Given the description of an element on the screen output the (x, y) to click on. 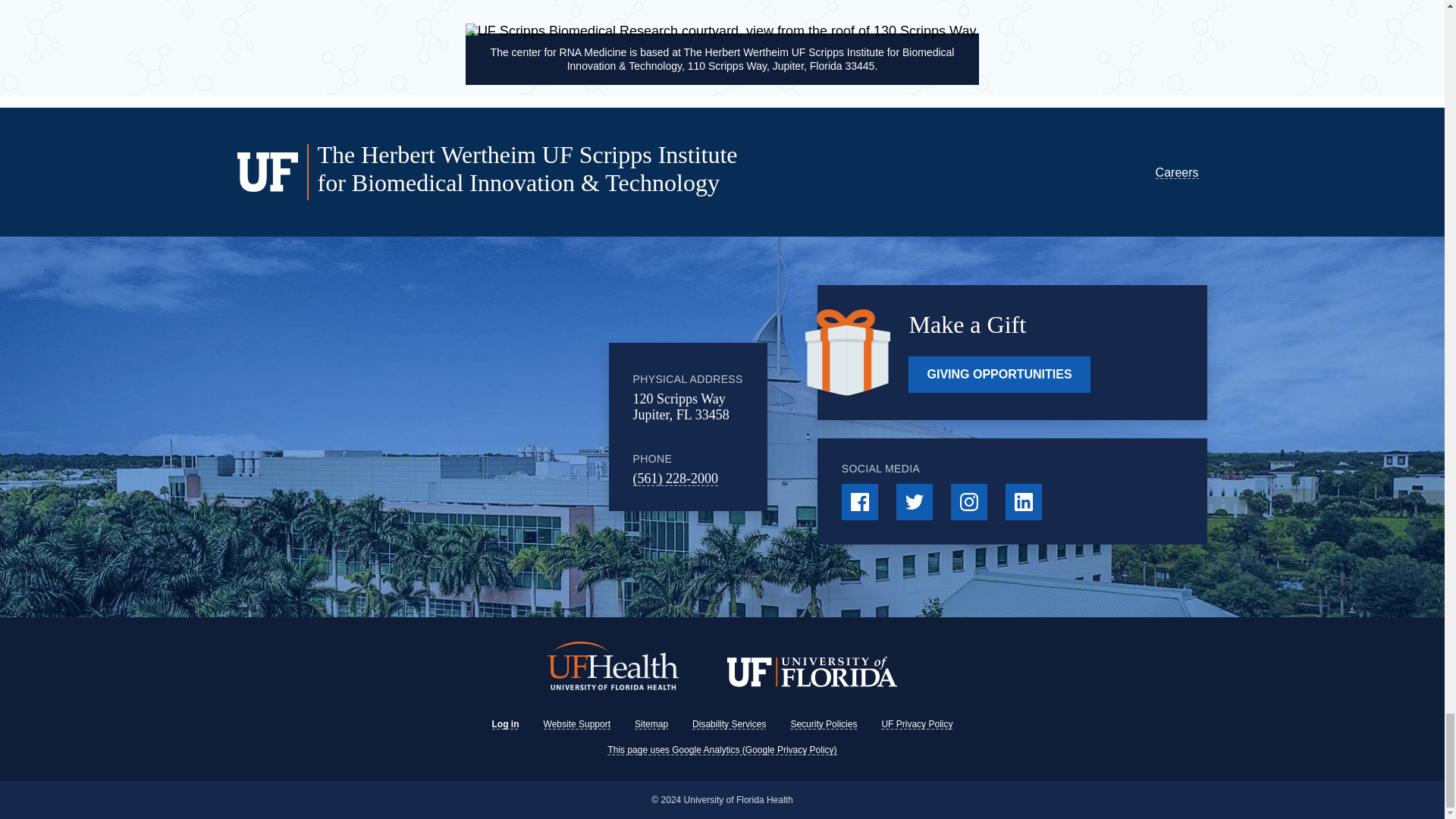
Disability Services (729, 724)
UF Privacy Policy (916, 724)
Sitemap (651, 724)
Careers (1177, 172)
Google Maps Embed (484, 426)
Website Support (577, 724)
Log in (505, 724)
Security Policies (823, 724)
